Given the description of an element on the screen output the (x, y) to click on. 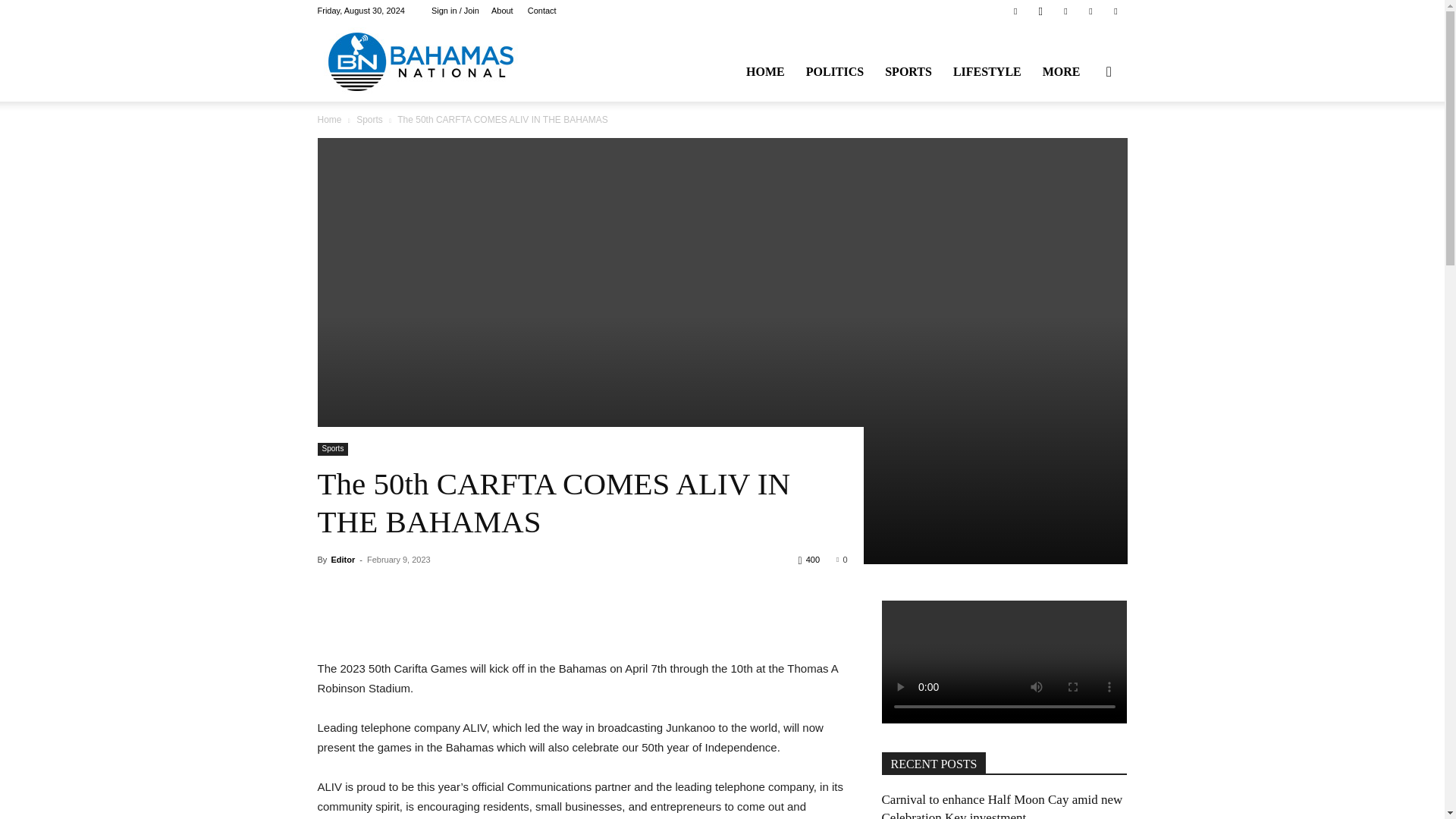
POLITICS (834, 71)
HOME (764, 71)
Youtube (1114, 10)
Search (1085, 143)
Facebook (1015, 10)
About (502, 10)
Vimeo (1090, 10)
Bahamas National (419, 61)
Instagram (1040, 10)
Twitter (1065, 10)
